Given the description of an element on the screen output the (x, y) to click on. 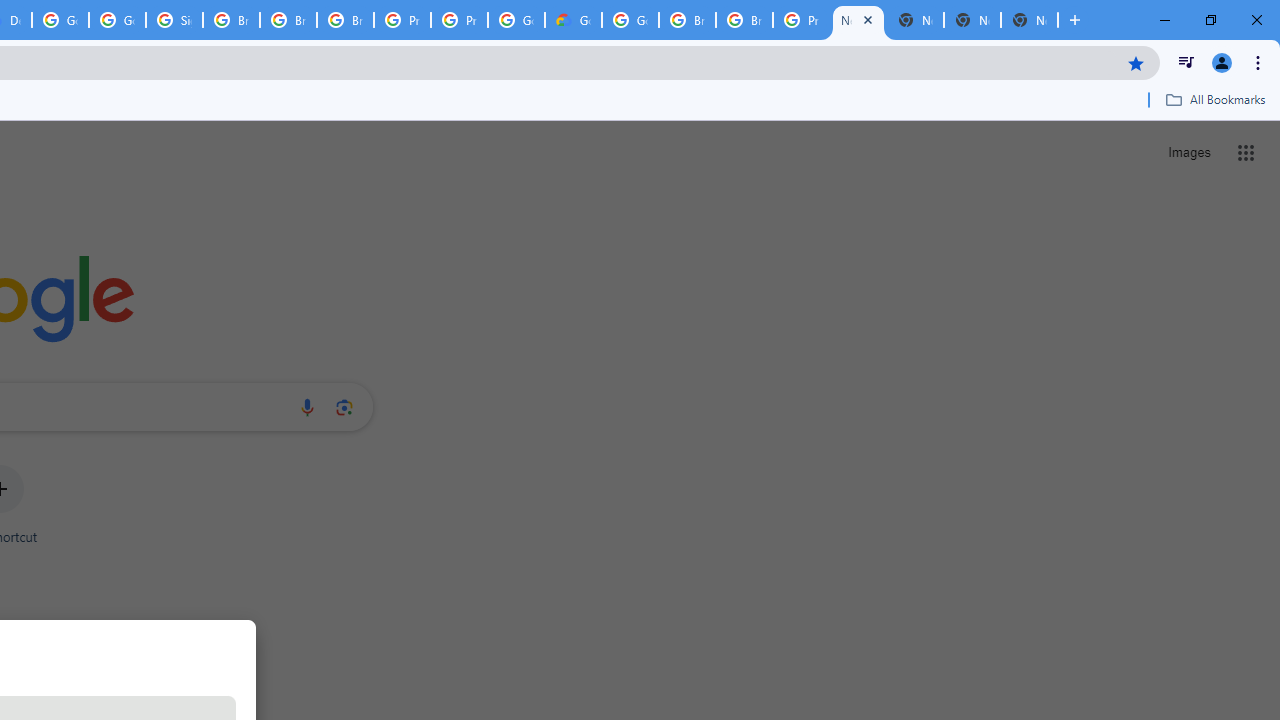
Browse Chrome as a guest - Computer - Google Chrome Help (687, 20)
Google Cloud Estimate Summary (573, 20)
